Given the description of an element on the screen output the (x, y) to click on. 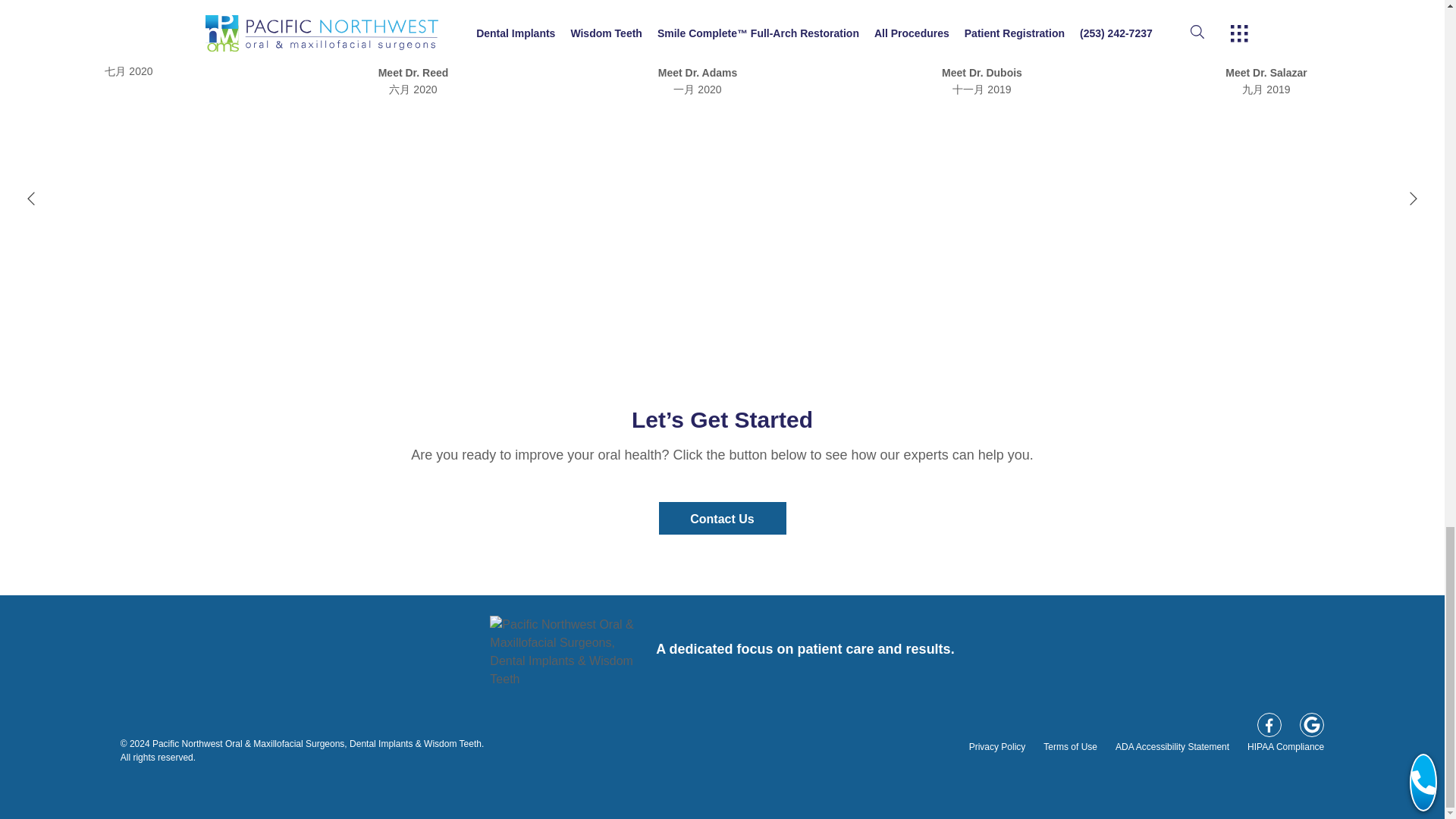
Privacy Policy (997, 747)
Facebook (1269, 724)
Terms of Use (1070, 747)
Google (1311, 724)
